Given the description of an element on the screen output the (x, y) to click on. 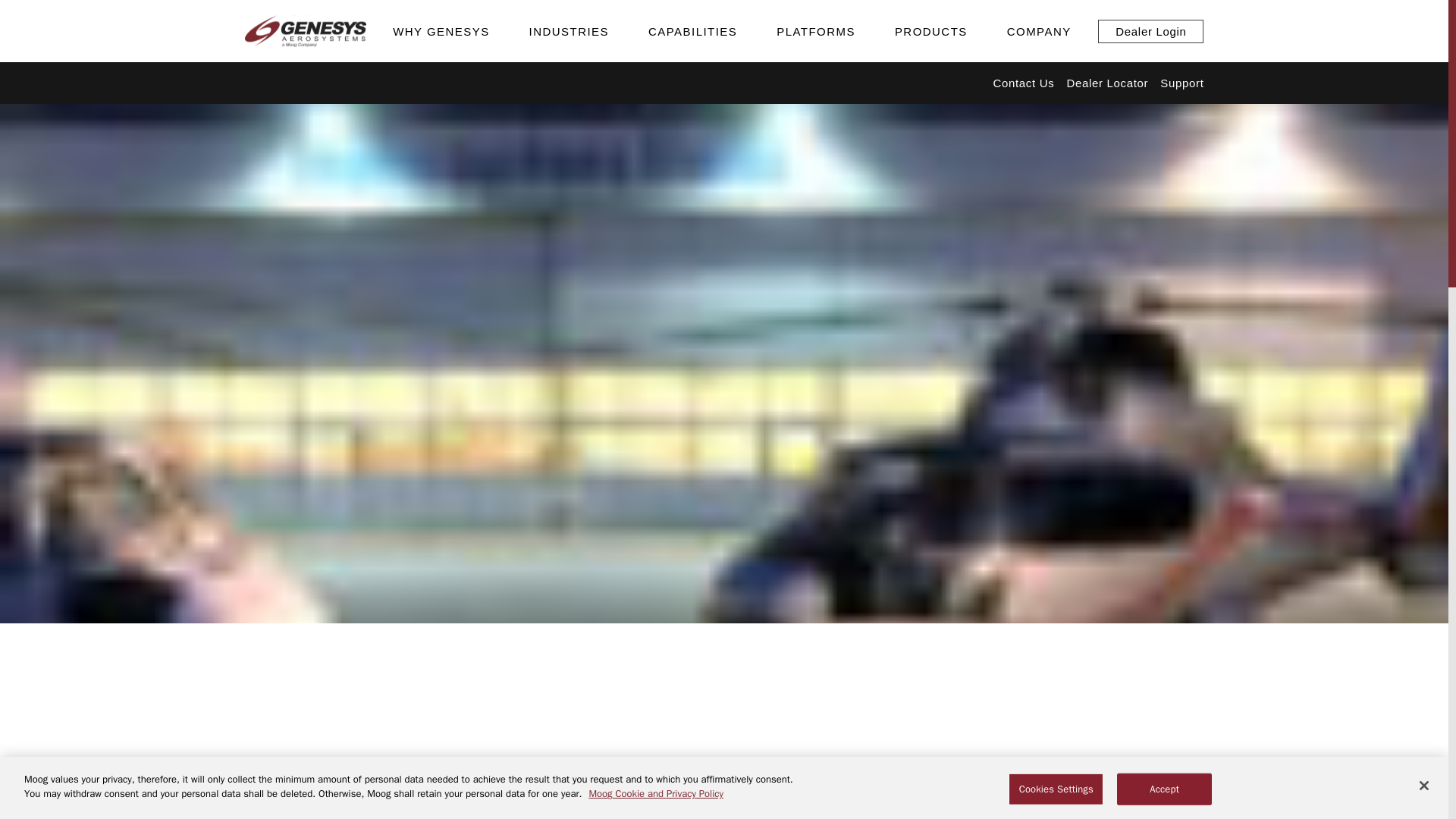
Support (1182, 82)
Dealer Locator (1106, 82)
CAPABILITIES (691, 30)
Dealer Login (1150, 31)
PRODUCTS (931, 30)
INDUSTRIES (568, 30)
COMPANY (1039, 30)
WHY GENESYS (441, 30)
Contact Us (1023, 82)
PLATFORMS (816, 30)
